Given the description of an element on the screen output the (x, y) to click on. 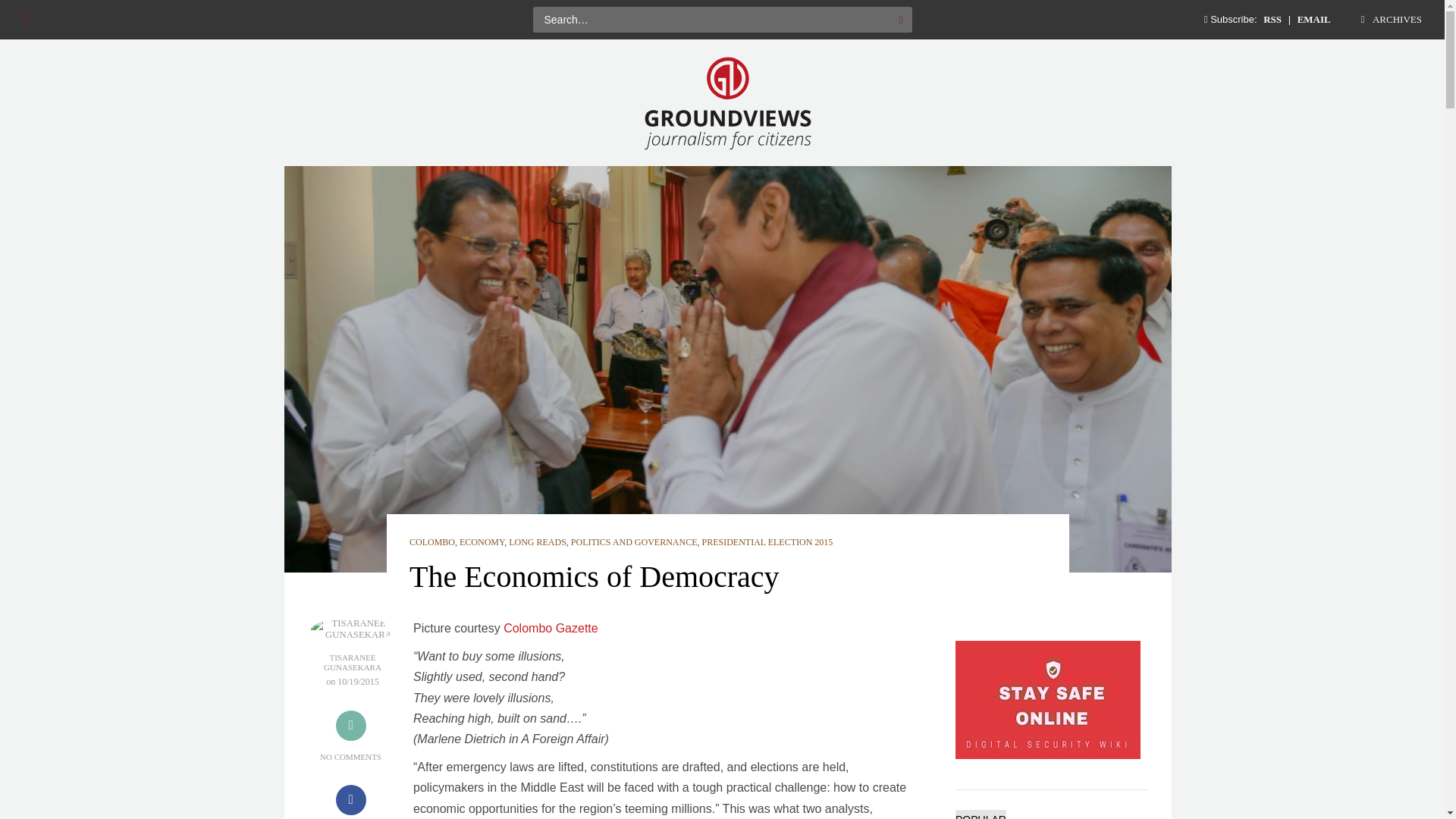
Search (900, 19)
ARCHIVES (1389, 19)
LONG READS (537, 542)
Colombo Gazette (550, 627)
COLOMBO (431, 542)
PRESIDENTIAL ELECTION 2015 (766, 542)
Search for: (710, 19)
TISARANEE GUNASEKARA (352, 662)
The Economics of Democracy (593, 576)
The Economics of Democracy (593, 576)
